Given the description of an element on the screen output the (x, y) to click on. 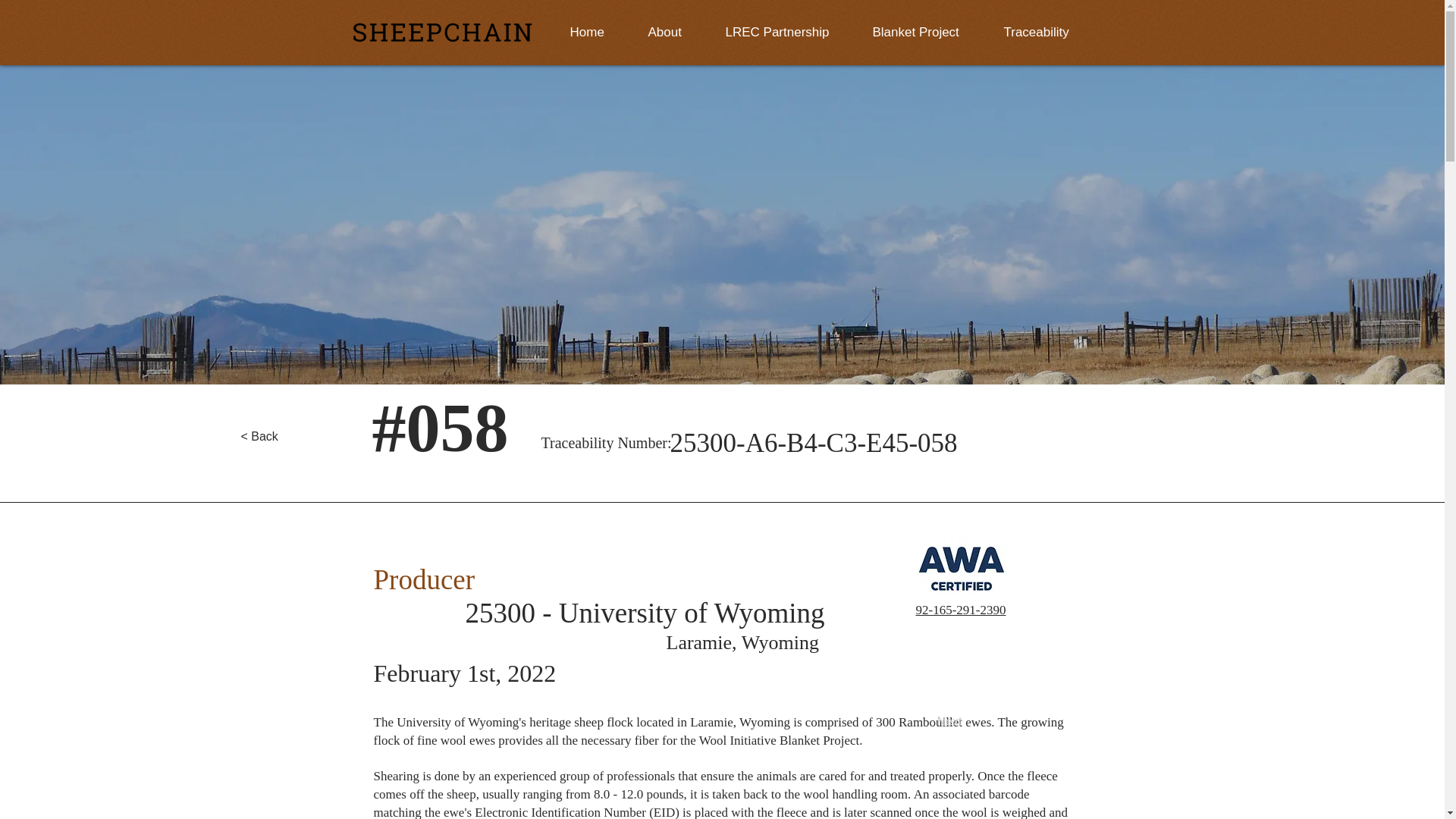
Next (922, 721)
Blanket Project (919, 32)
Home (589, 32)
LREC Partnership (779, 32)
AWA Certified stencil.jpg (960, 577)
About (667, 32)
92-165-291-2390 (960, 609)
